Given the description of an element on the screen output the (x, y) to click on. 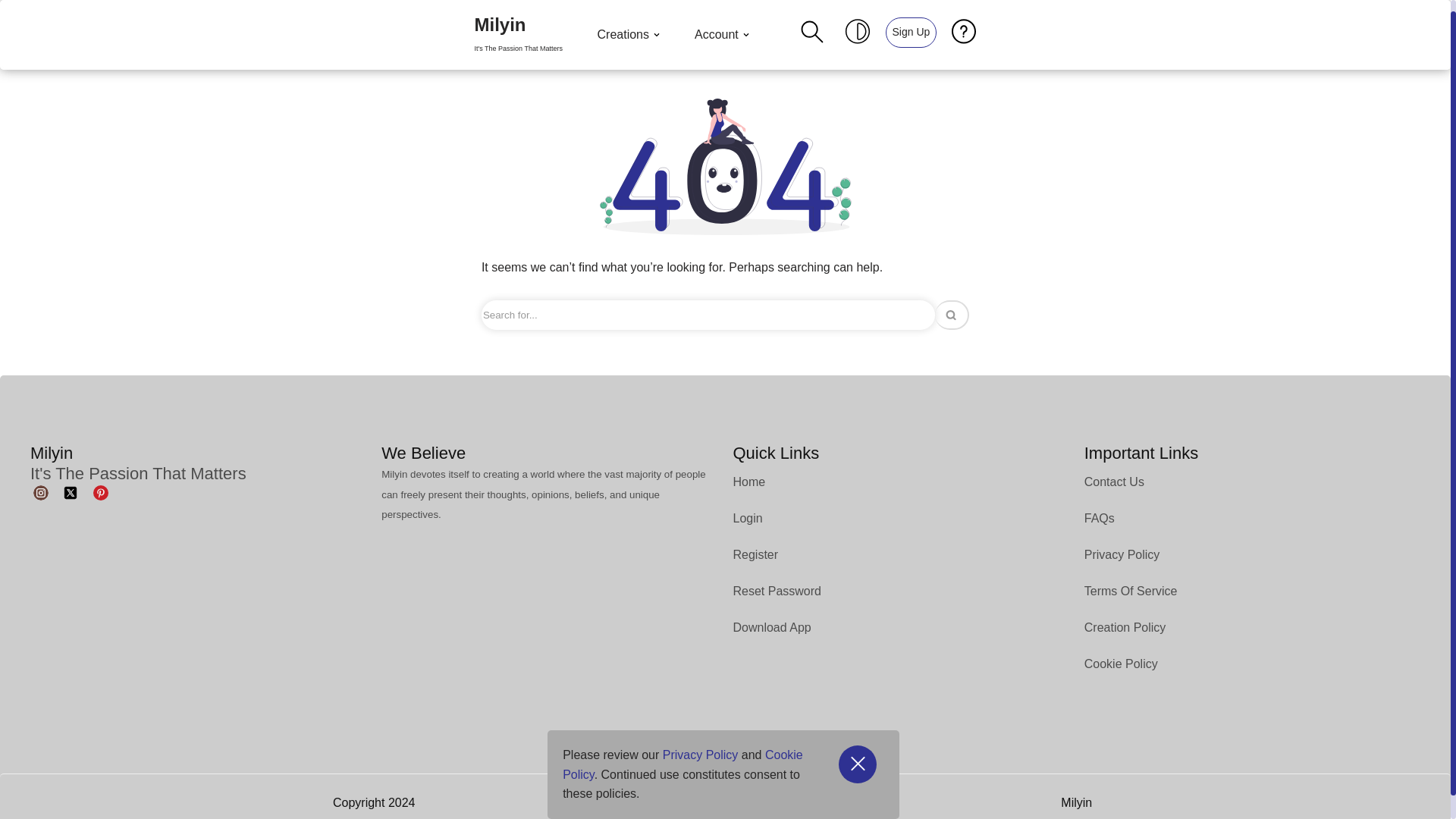
Sign Up (910, 31)
Creations (629, 35)
Skip to content (518, 34)
Sign Up (11, 31)
Account (911, 32)
Milyin (724, 35)
